Given the description of an element on the screen output the (x, y) to click on. 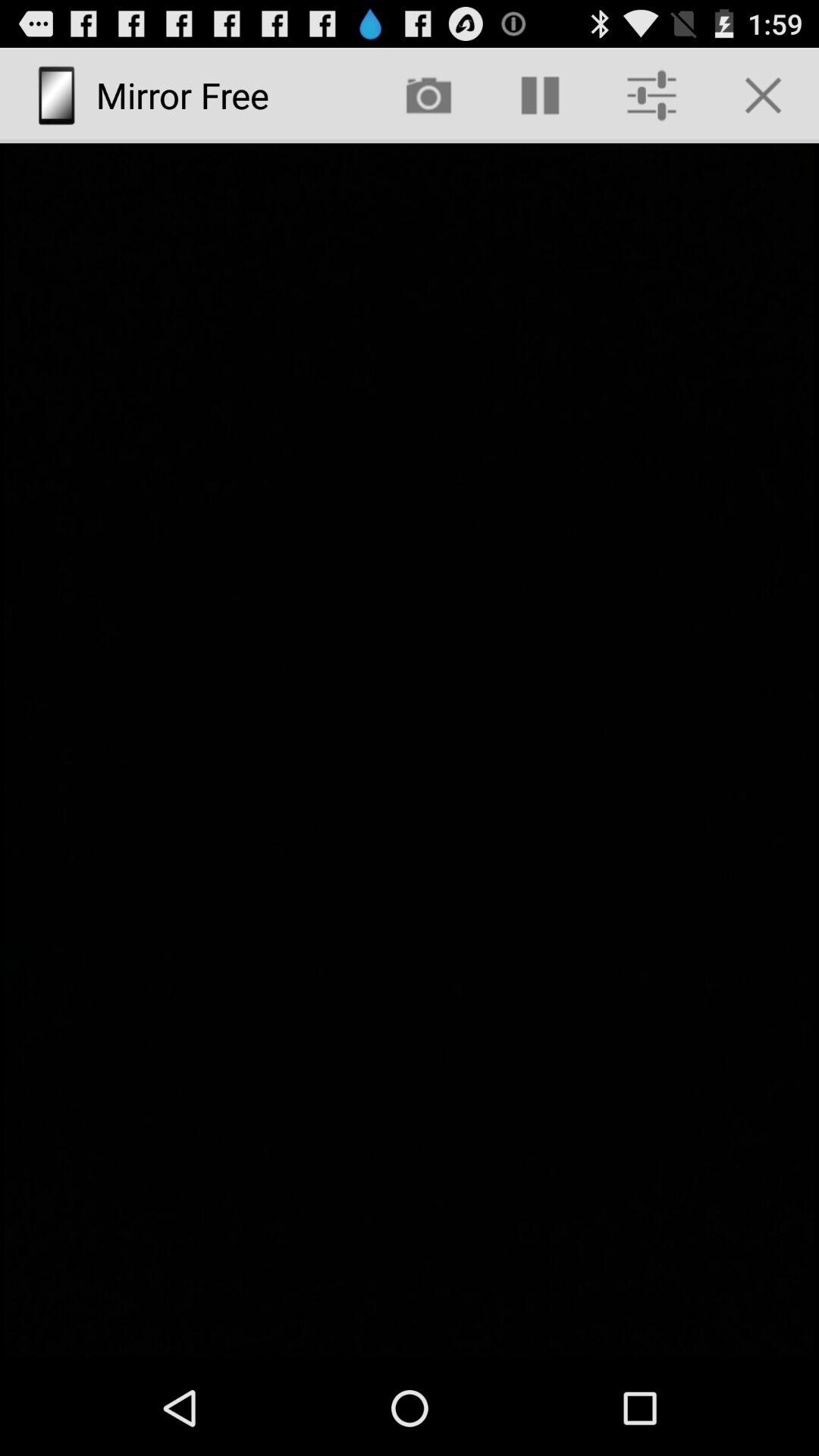
turn on app next to mirror free icon (428, 95)
